Given the description of an element on the screen output the (x, y) to click on. 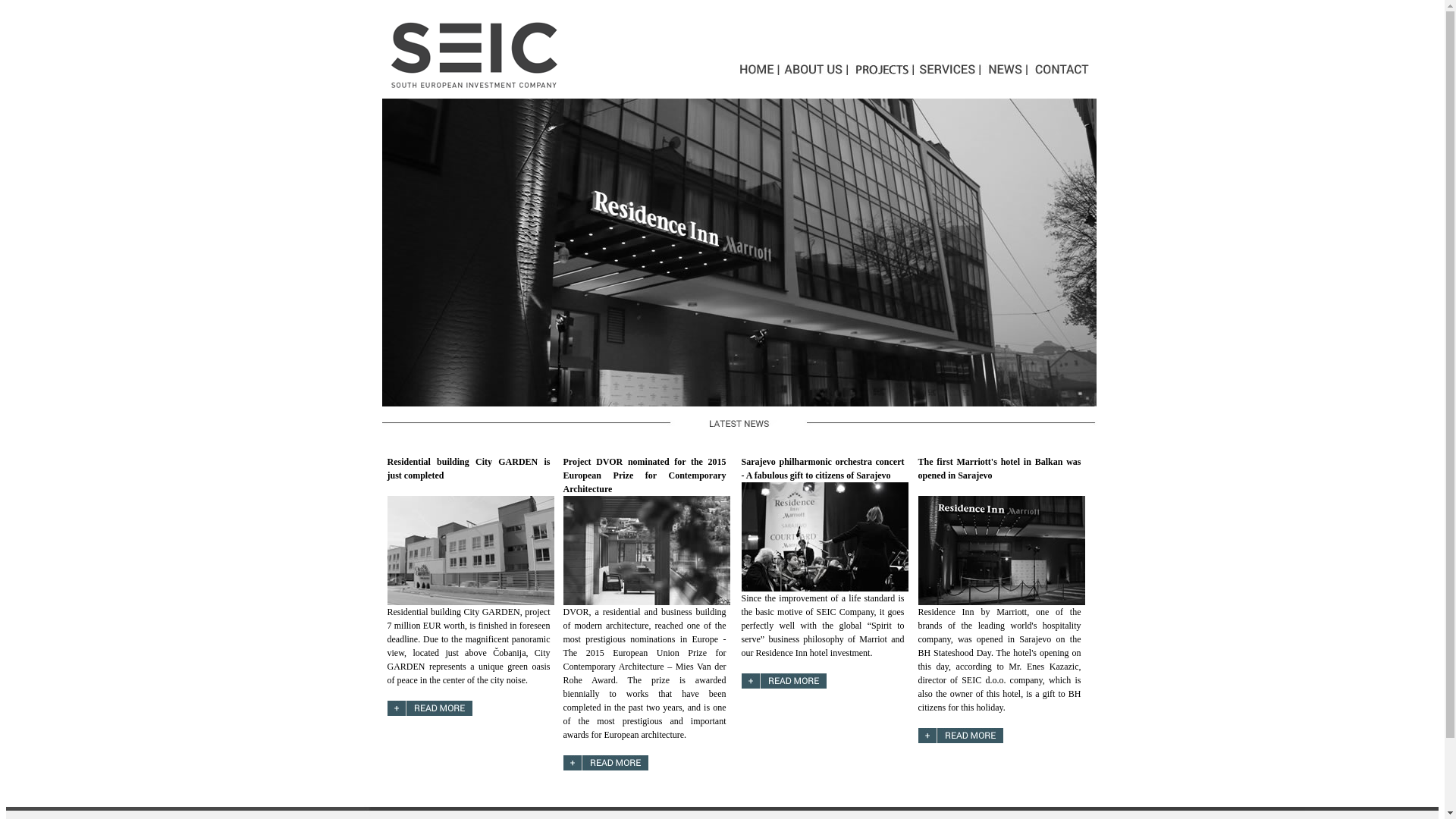
SEIC | South European Investment Company Element type: hover (475, 54)
SEIC | South European Investment Company Element type: hover (740, 423)
SEIC | South European Investment Company Element type: hover (739, 252)
